Given the description of an element on the screen output the (x, y) to click on. 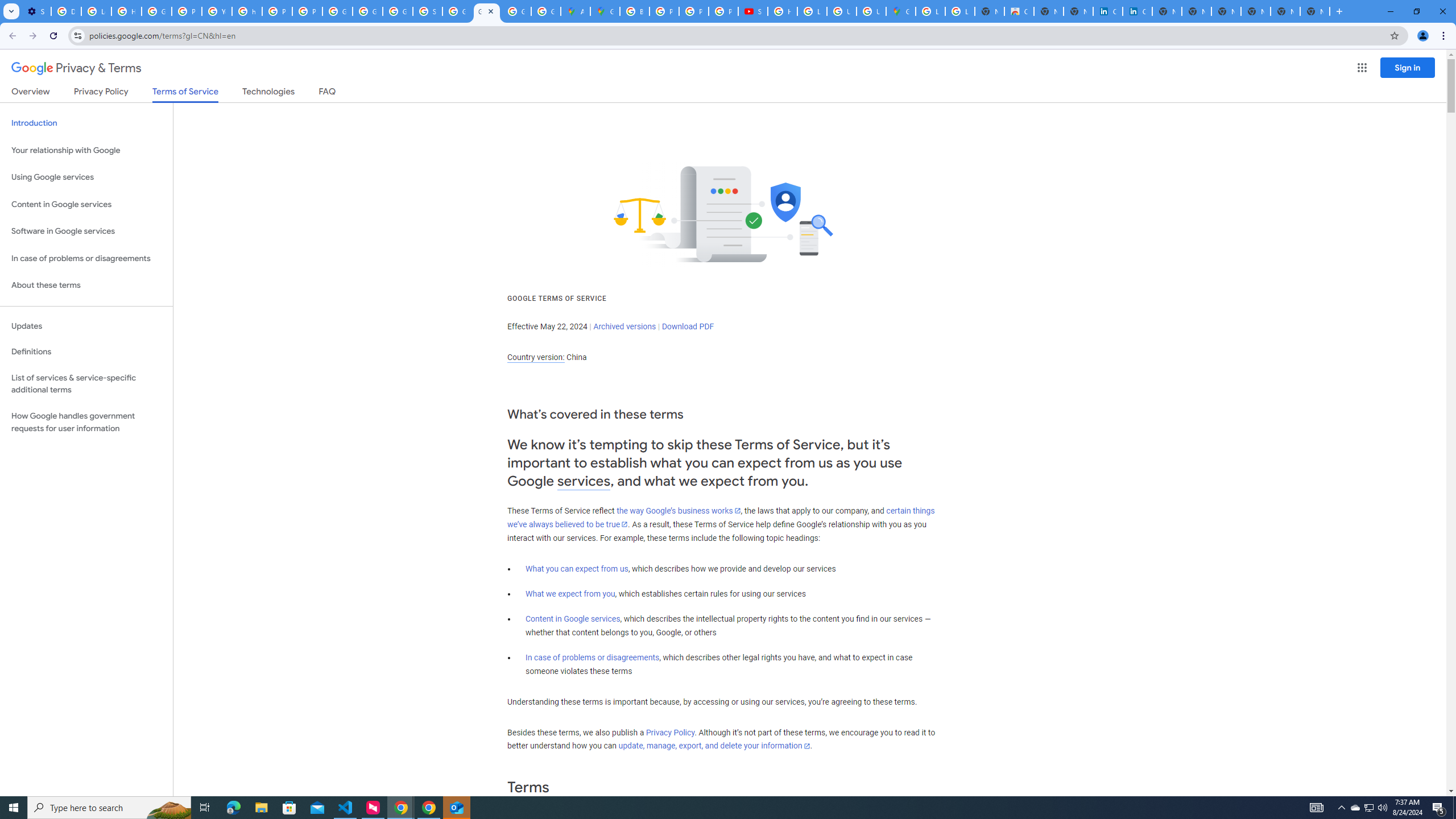
Privacy Help Center - Policies Help (185, 11)
Privacy Help Center - Policies Help (277, 11)
Updates (86, 325)
Google Account Help (156, 11)
Definitions (86, 352)
Archived versions (624, 326)
